Given the description of an element on the screen output the (x, y) to click on. 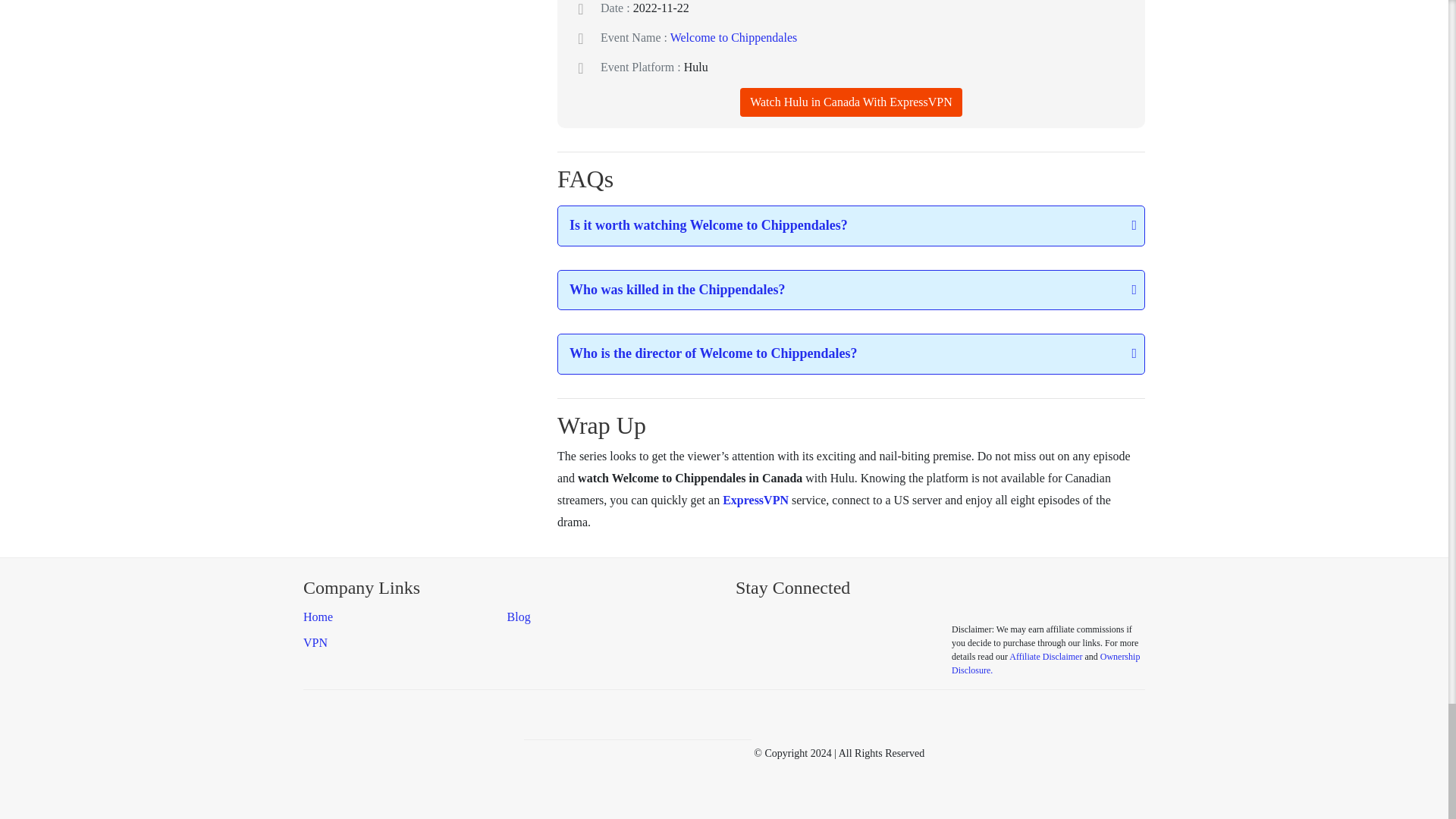
DMCA.com Protection Status (637, 752)
